Given the description of an element on the screen output the (x, y) to click on. 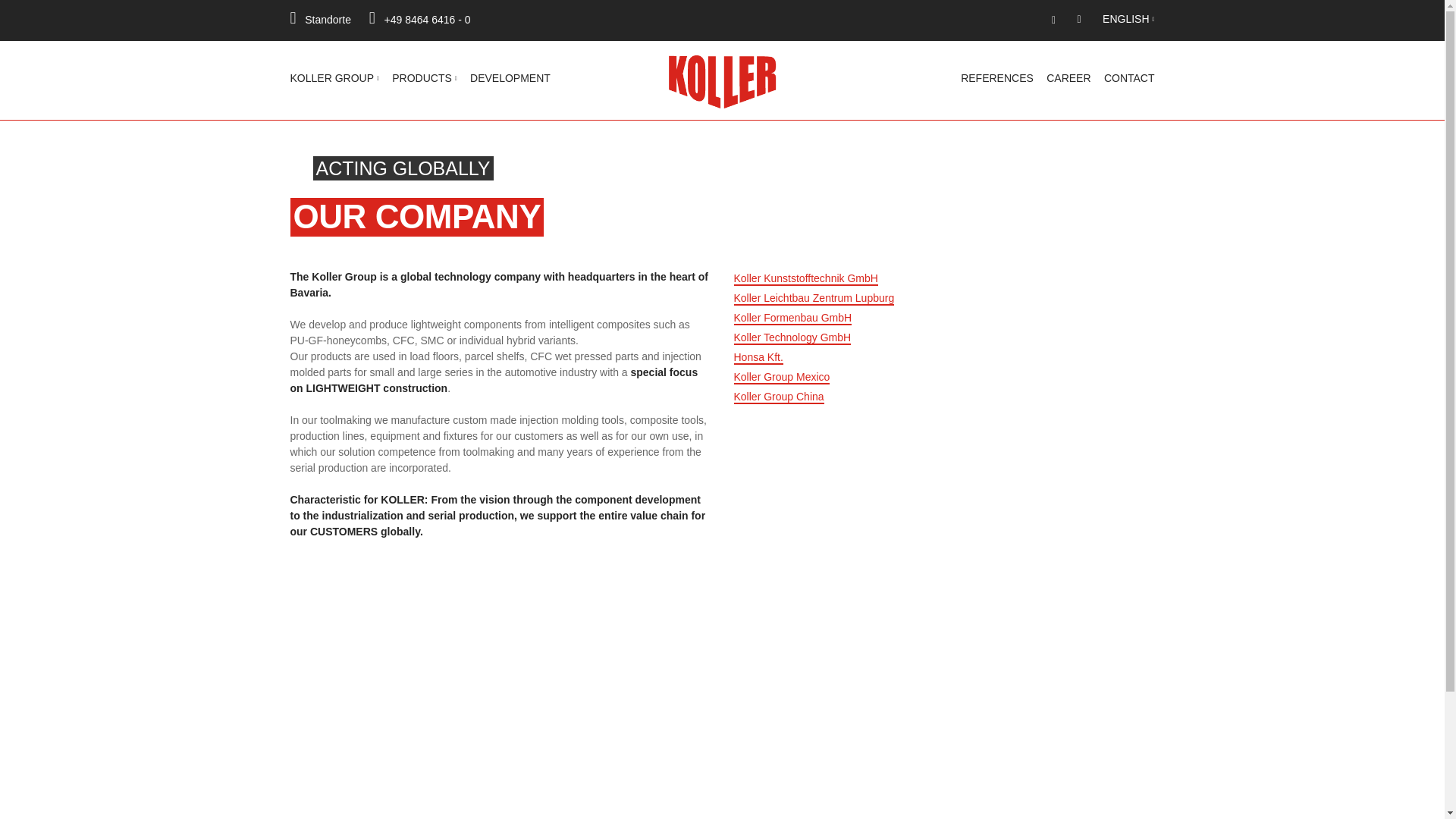
Koller Technology GmbH (792, 337)
CONTACT (1128, 78)
Honsa Kft. (758, 357)
   Standorte (319, 19)
Koller Formenbau GmbH (792, 318)
CAREER (1068, 78)
Koller Kunststofftechnik GmbH (805, 278)
REFERENCES (996, 78)
KOLLER GROUP (333, 78)
PRODUCTS (424, 78)
